Given the description of an element on the screen output the (x, y) to click on. 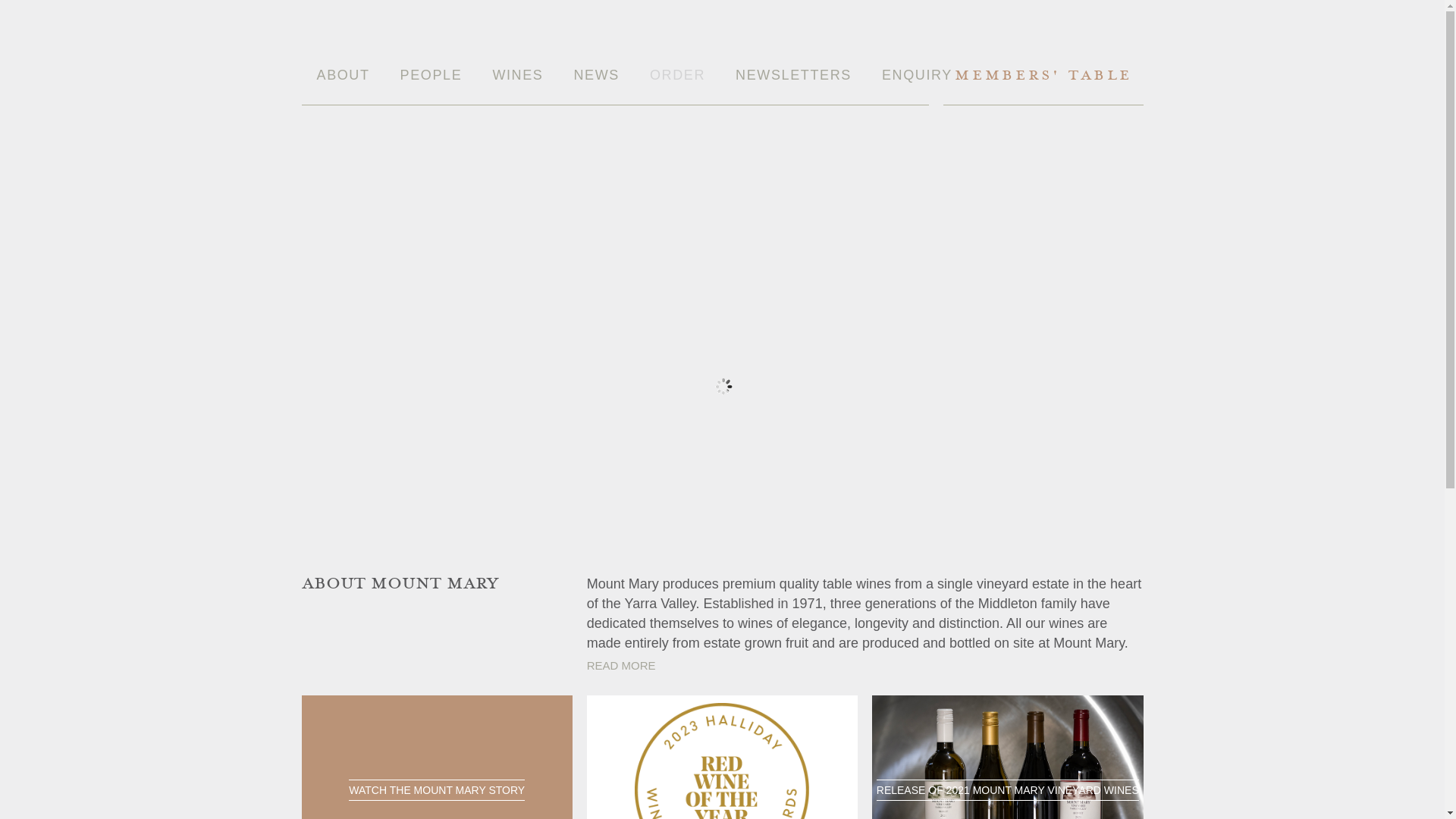
MEMBERS' TABLE Element type: text (1042, 84)
READ MORE Element type: text (620, 664)
MOUNT MARY Element type: text (419, 188)
